Given the description of an element on the screen output the (x, y) to click on. 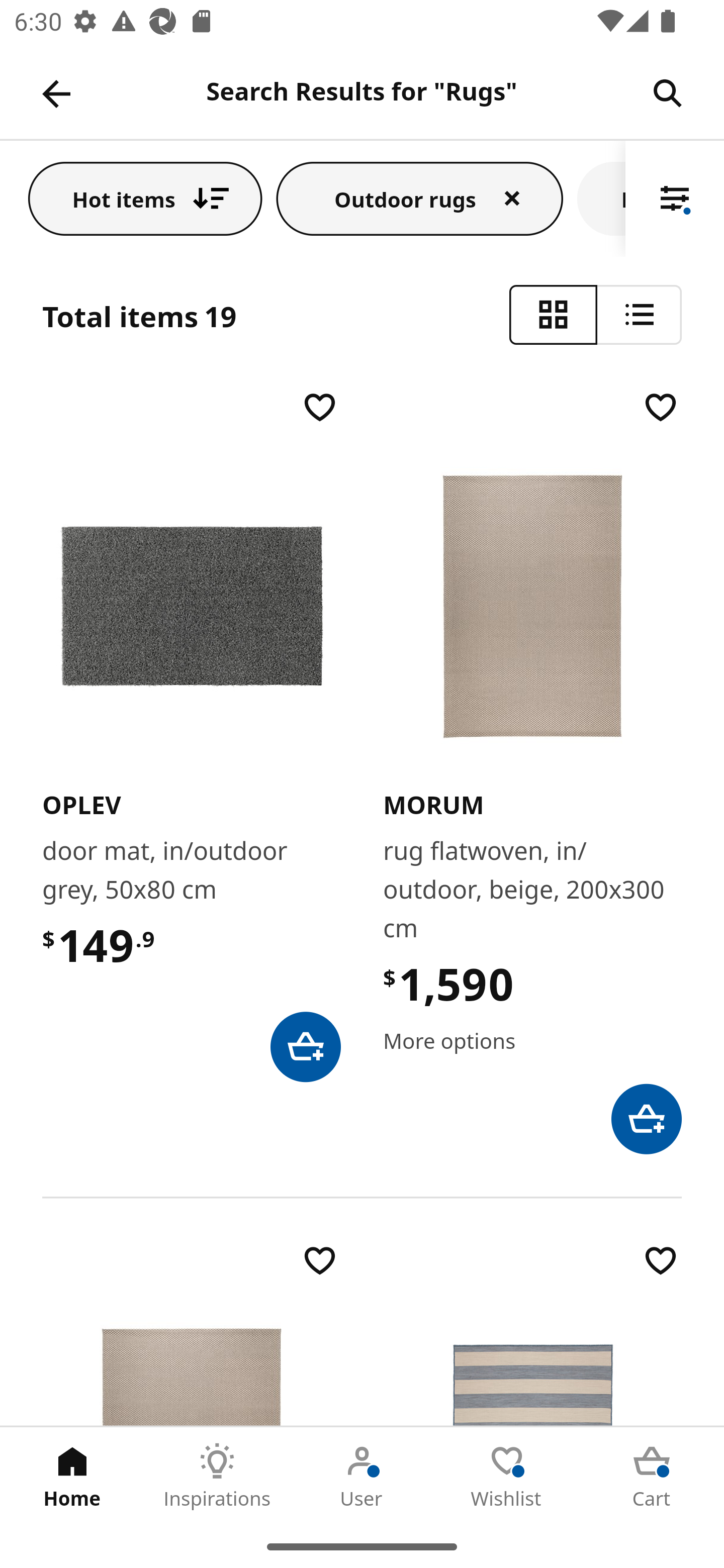
Hot items (145, 198)
Outdoor rugs (419, 198)
Home
Tab 1 of 5 (72, 1476)
Inspirations
Tab 2 of 5 (216, 1476)
User
Tab 3 of 5 (361, 1476)
Wishlist
Tab 4 of 5 (506, 1476)
Cart
Tab 5 of 5 (651, 1476)
